Given the description of an element on the screen output the (x, y) to click on. 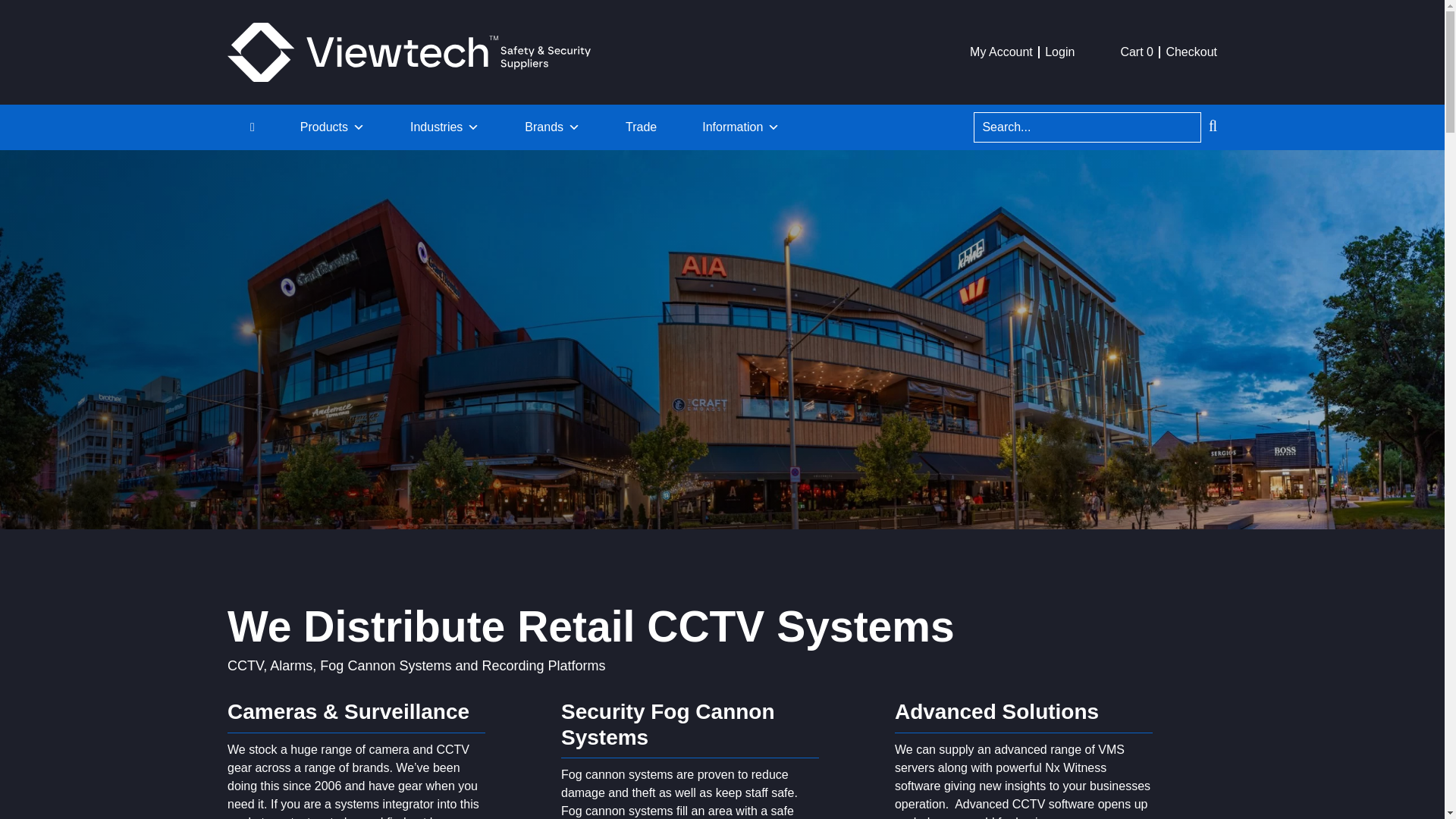
Checkout (1191, 51)
My Account (1000, 51)
Login (1059, 51)
Cart 0 (1136, 51)
Products (332, 126)
